Given the description of an element on the screen output the (x, y) to click on. 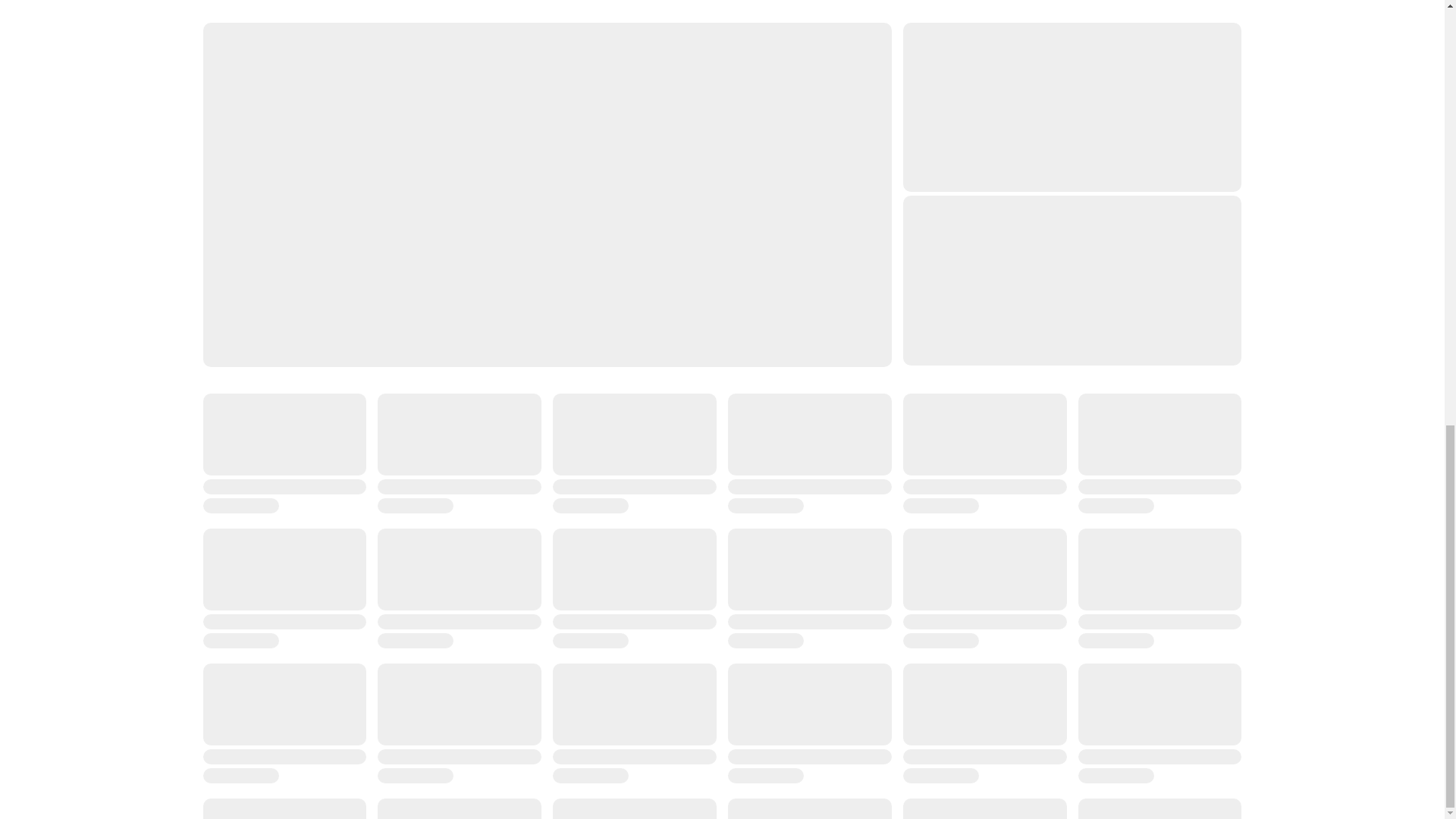
Return Policy (761, 412)
Community Guidelines (522, 459)
Blog (214, 459)
Refund Policy (762, 436)
Cookies Policy (765, 481)
Sitemap (223, 504)
Contact Us (493, 390)
Order Tracking (502, 412)
About us (225, 390)
Contact us (230, 412)
